Given the description of an element on the screen output the (x, y) to click on. 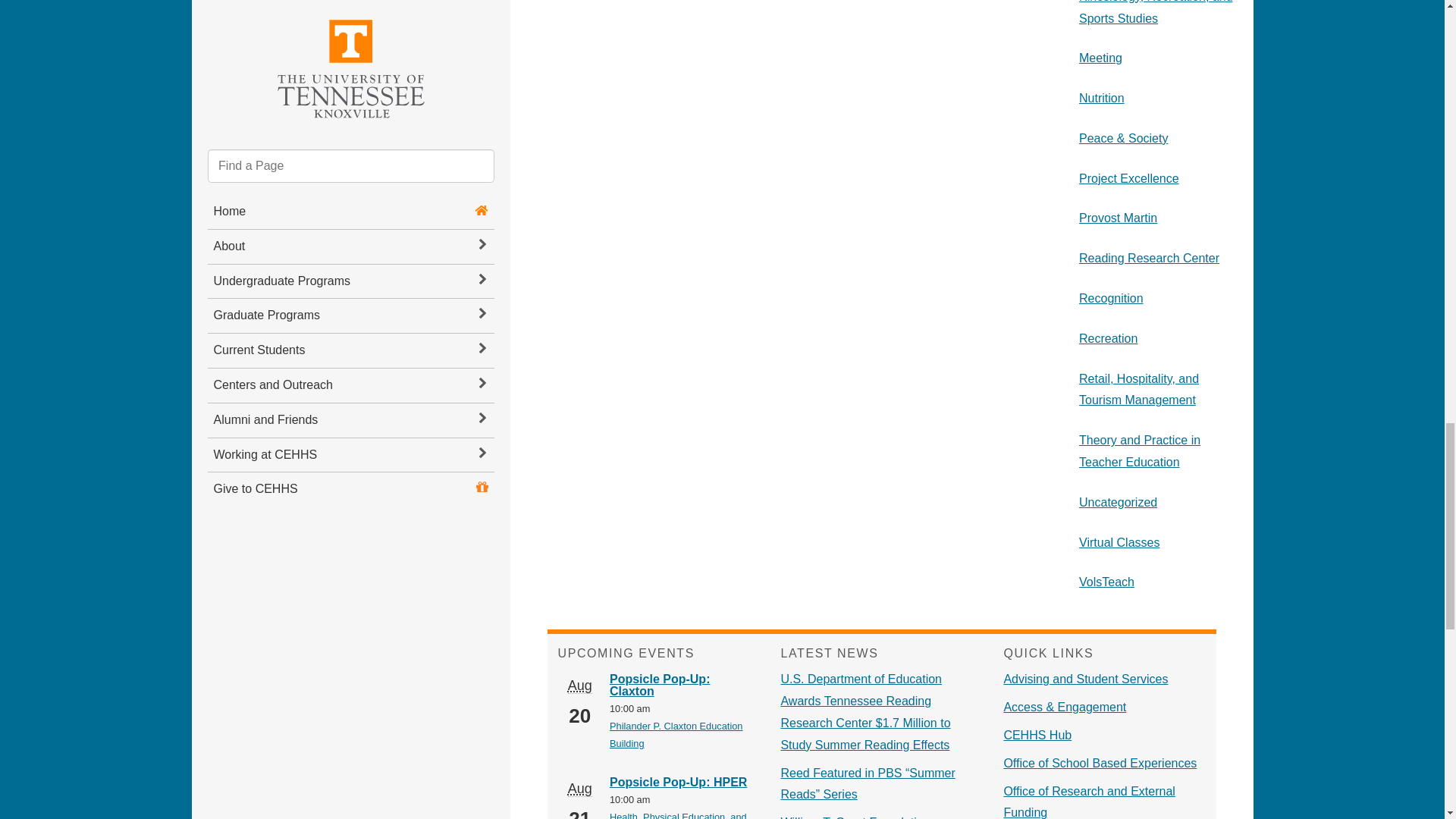
August (579, 685)
August (579, 788)
